Given the description of an element on the screen output the (x, y) to click on. 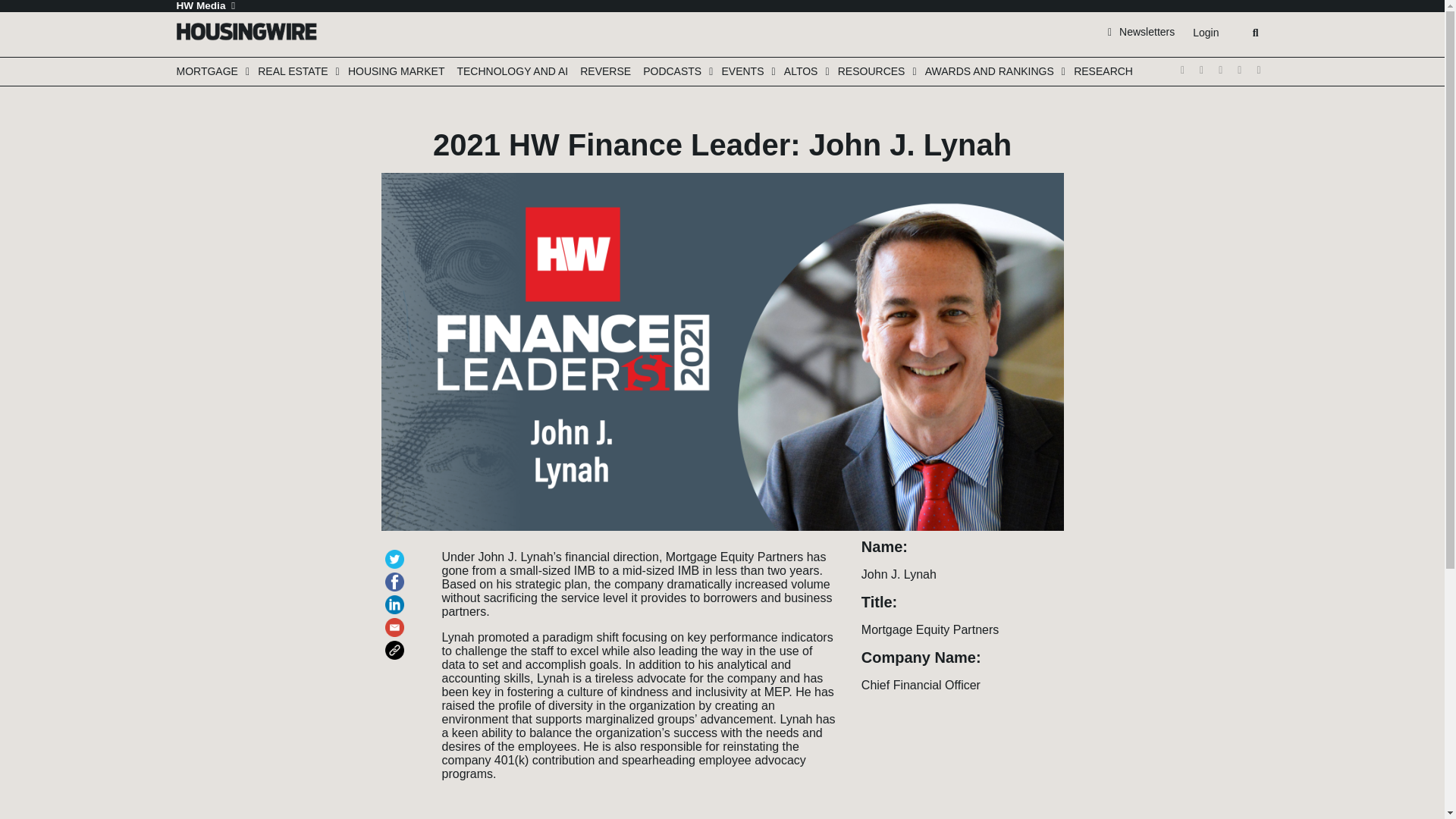
Click to share on Facebook (398, 575)
Login (1205, 32)
Click to share on Twitter (398, 552)
Newsletters (1141, 31)
Click to copy link (398, 643)
Click to email a link to a friend (398, 620)
Click to share on LinkedIn (398, 597)
